Given the description of an element on the screen output the (x, y) to click on. 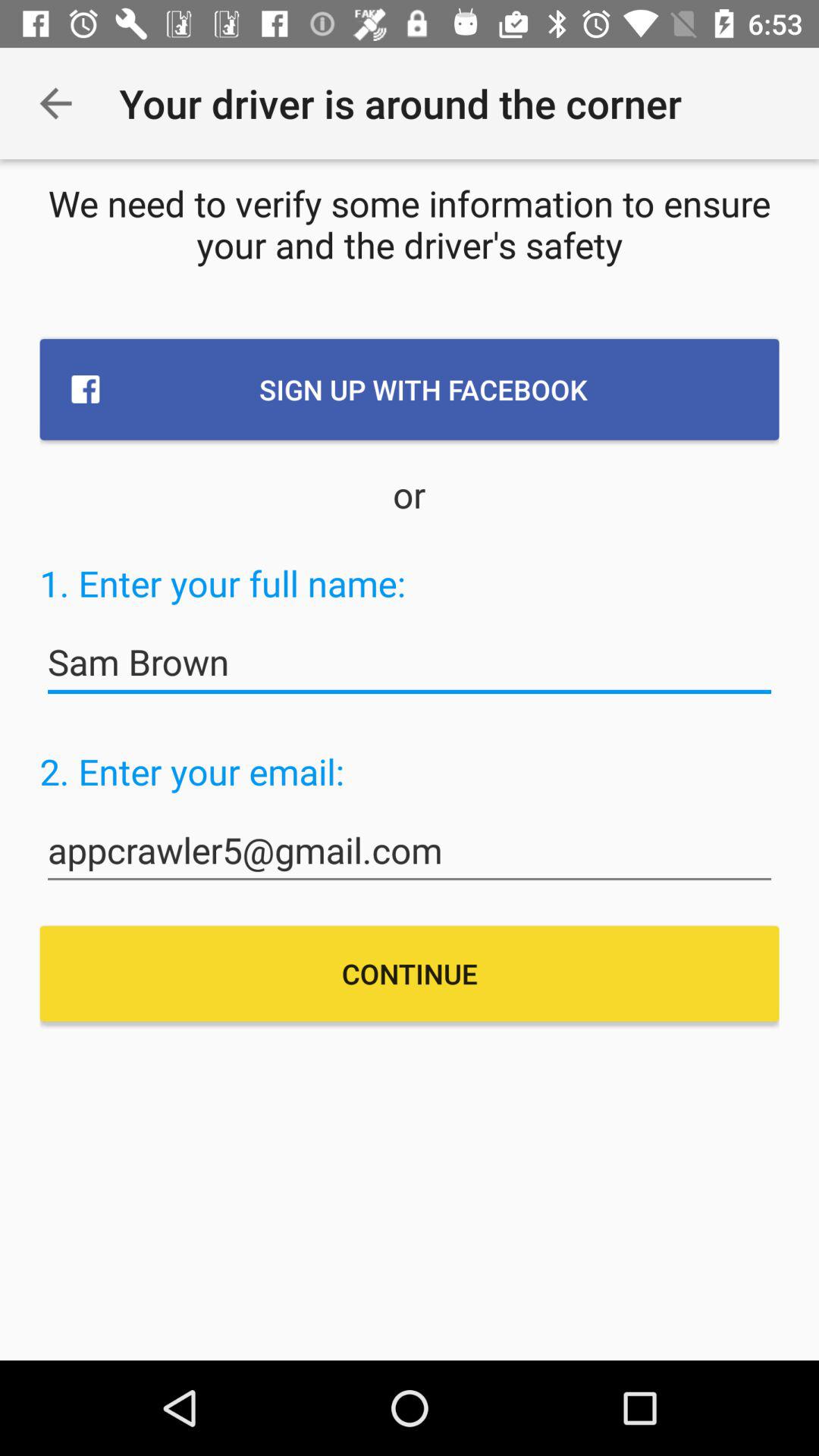
click icon to the left of the your driver is item (55, 103)
